Given the description of an element on the screen output the (x, y) to click on. 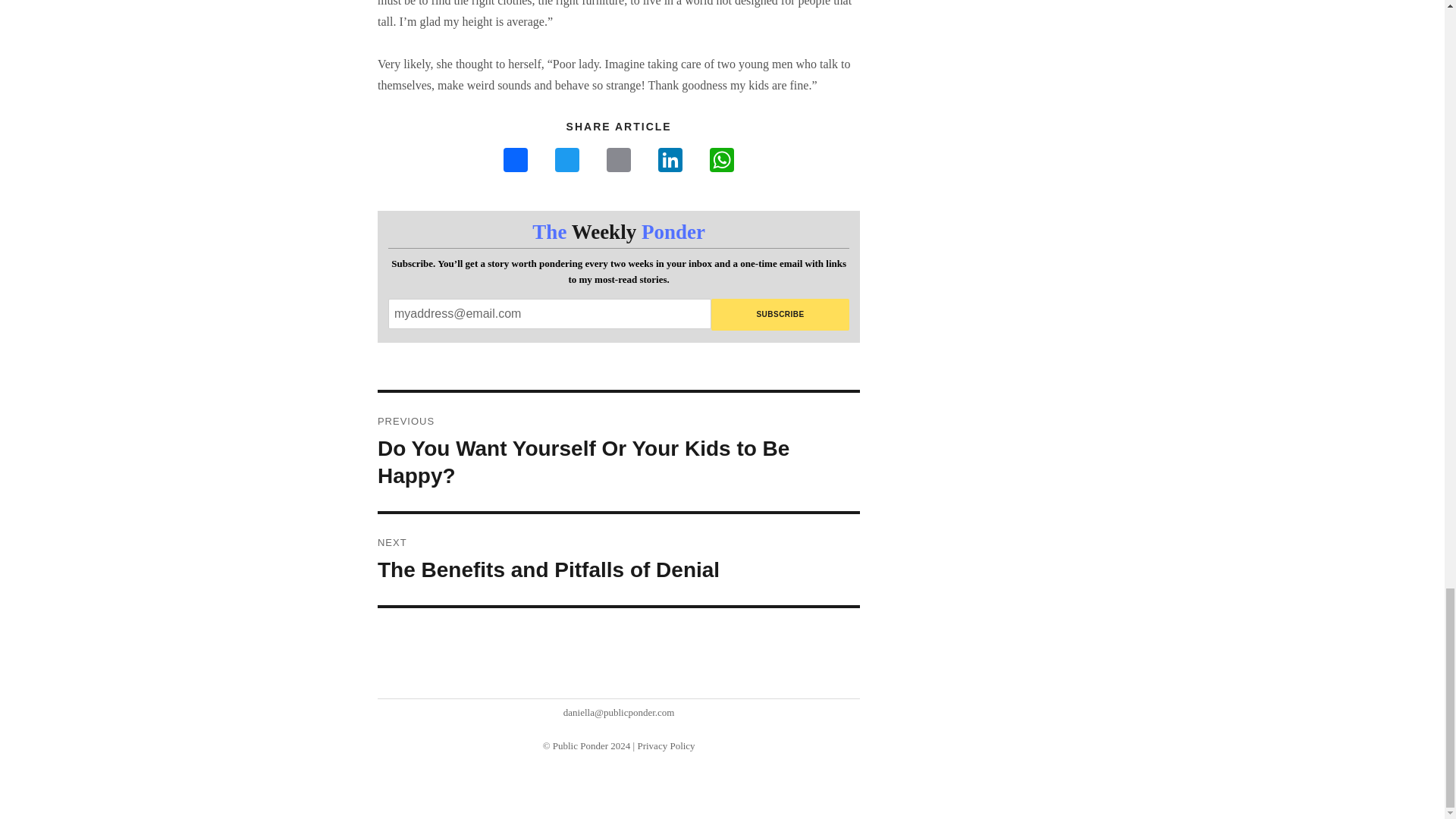
Email (618, 162)
WhatsApp (721, 162)
Subscribe (780, 314)
LinkedIn (670, 162)
WhatsApp (721, 162)
Twitter (618, 559)
LinkedIn (566, 162)
Subscribe (670, 162)
